Given the description of an element on the screen output the (x, y) to click on. 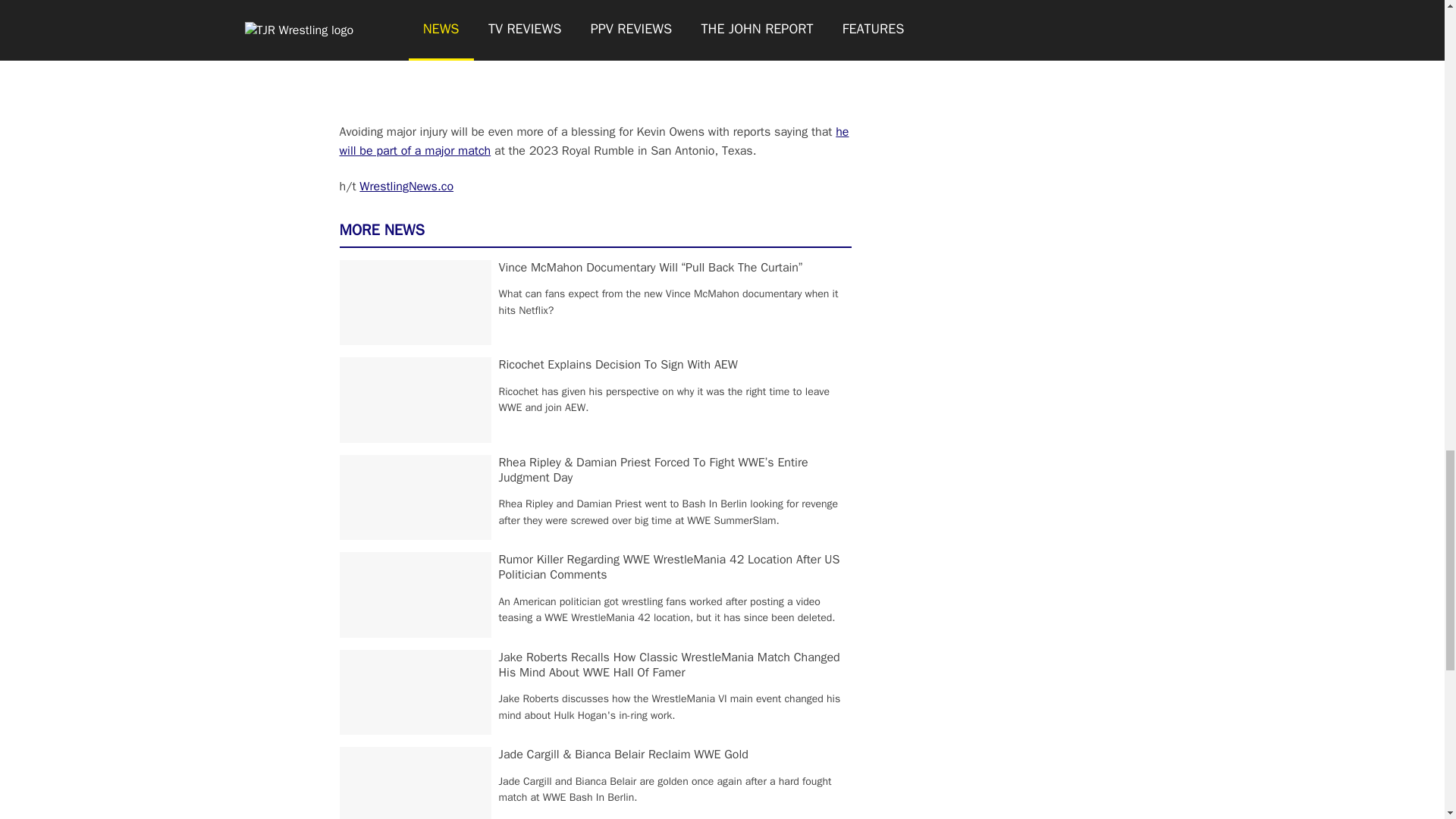
Ricochet Explains Decision To Sign With AEW (618, 364)
WrestlingNews.co (405, 186)
he will be part of a major match (593, 141)
